Given the description of an element on the screen output the (x, y) to click on. 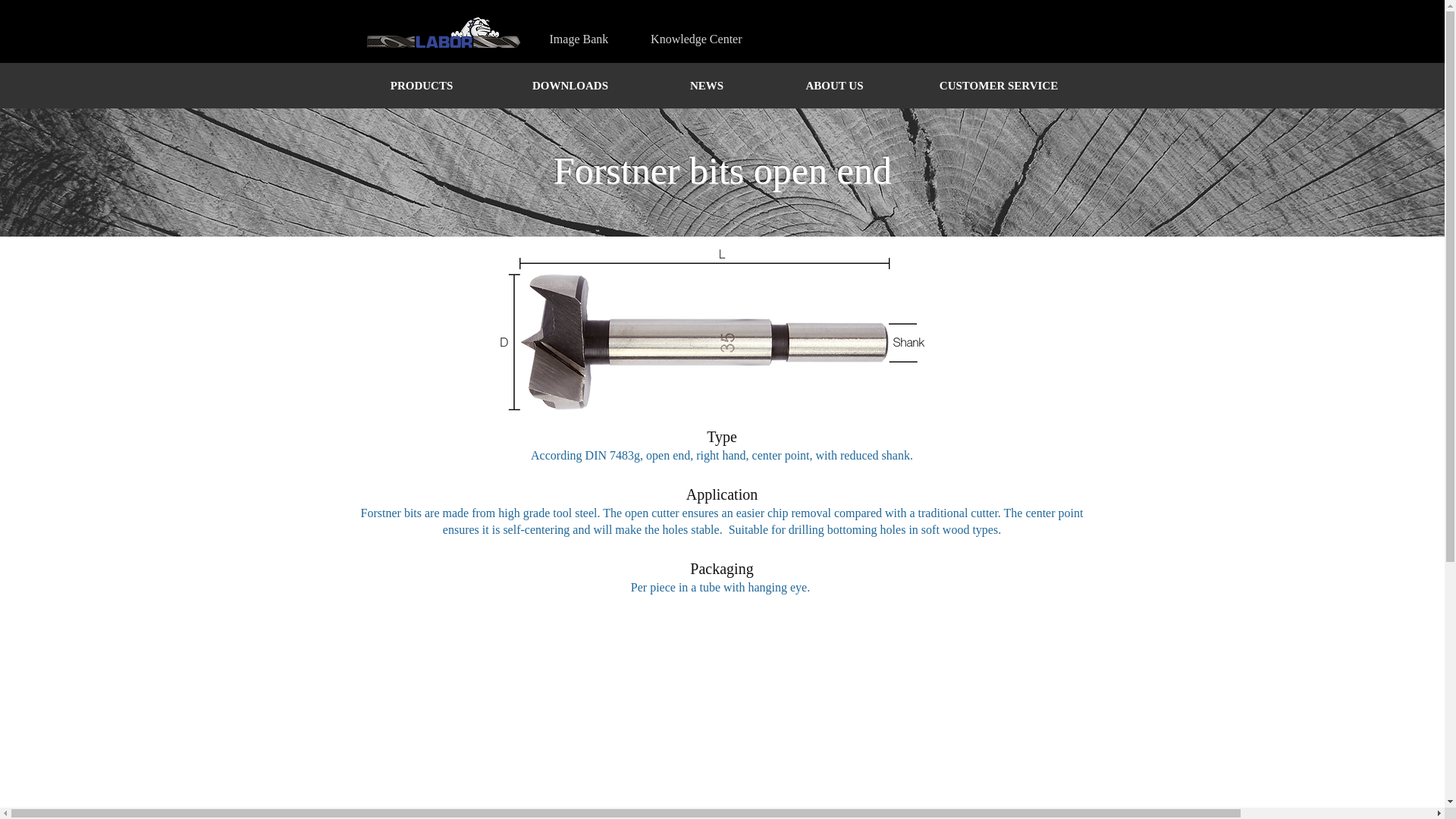
Image Bank (578, 38)
PRODUCTS (421, 85)
ABOUT US (833, 85)
DOWNLOADS (570, 85)
NEWS (706, 85)
CUSTOMER SERVICE (997, 85)
Knowledge Center (695, 38)
